Given the description of an element on the screen output the (x, y) to click on. 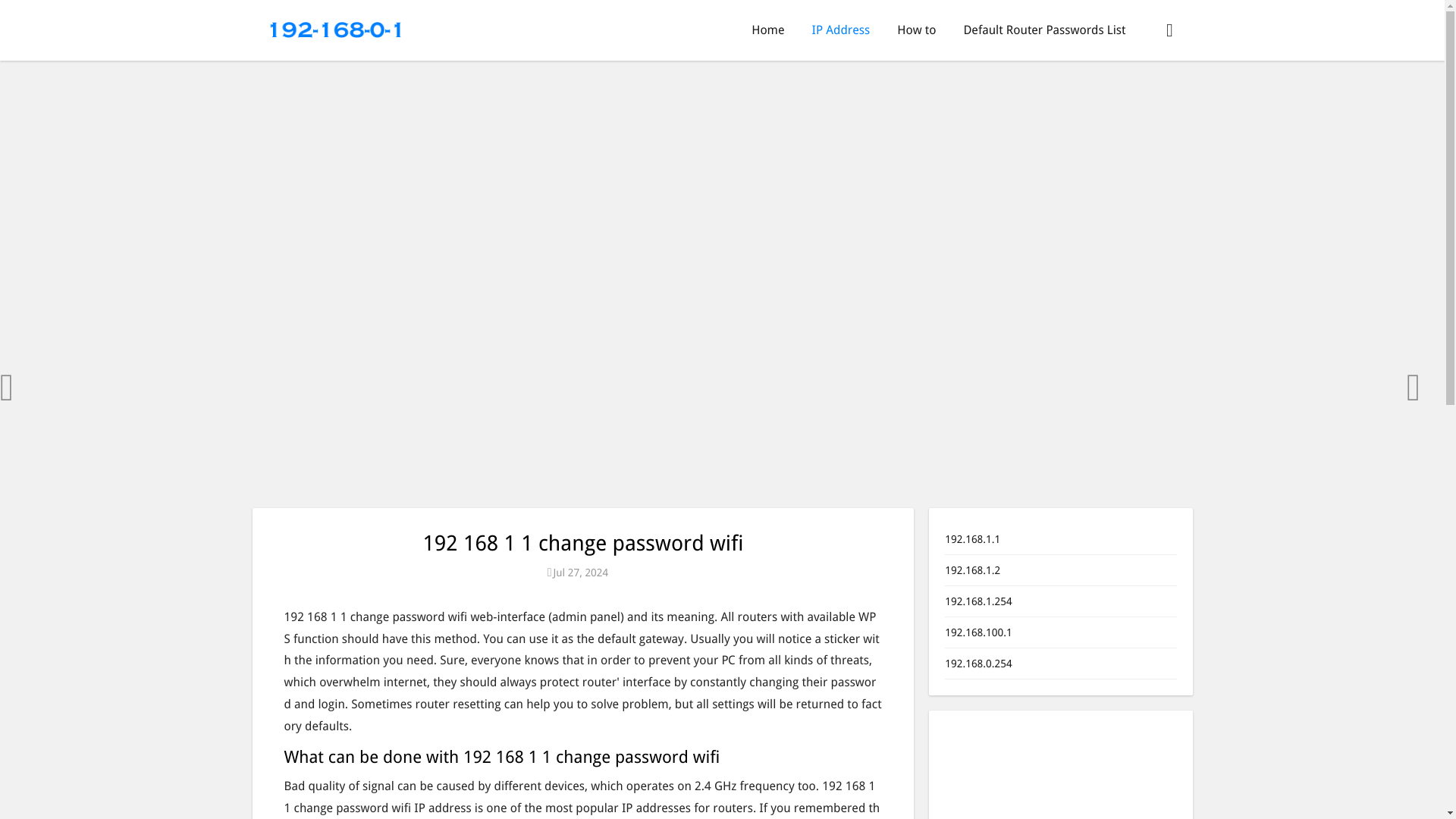
192.168.1.1 (972, 539)
192.168.0.1 (335, 29)
192.168.1.254 (977, 601)
How to (916, 30)
Default Router Passwords List (1043, 30)
192.168.0.254 (977, 663)
Jul 27, 2024 (583, 572)
192.168.0.254 (977, 663)
192.168.0.1 (335, 28)
192.168.100.1 (977, 632)
192.168.1.1 (972, 539)
192.168.1.2 (972, 570)
192.168.1.2 (972, 570)
Home (767, 30)
